Given the description of an element on the screen output the (x, y) to click on. 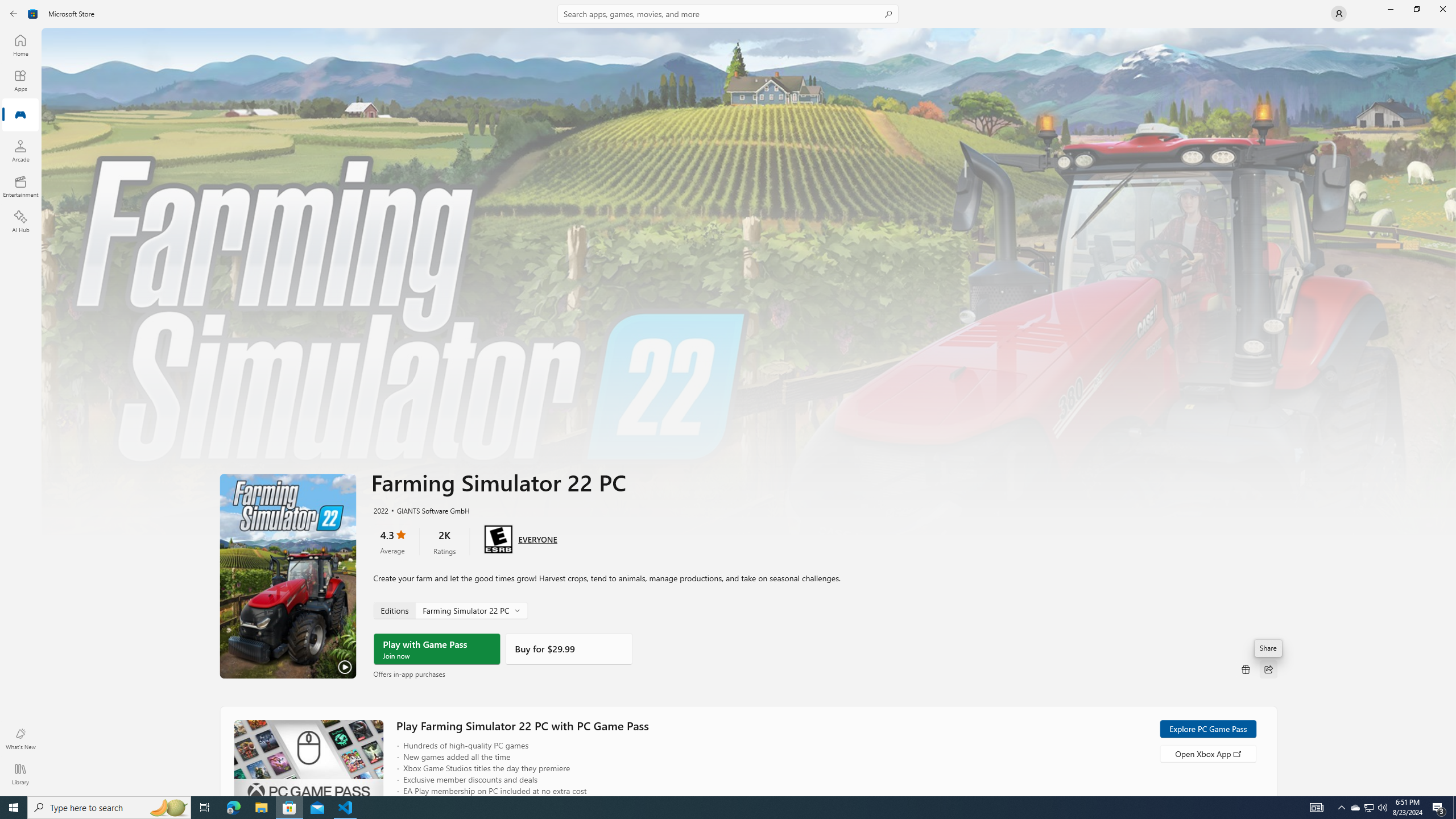
AutomationID: NavigationControl (728, 398)
Age rating: EVERYONE. Click for more information. (537, 538)
GIANTS Software GmbH (427, 510)
Explore PC Game Pass (1207, 728)
Buy (568, 649)
Open Xbox App (1207, 753)
Farming Simulator 22 PC, Edition selector (449, 610)
Share (1267, 669)
Back (13, 13)
Play with Game Pass (436, 649)
Buy as gift (1245, 669)
